Given the description of an element on the screen output the (x, y) to click on. 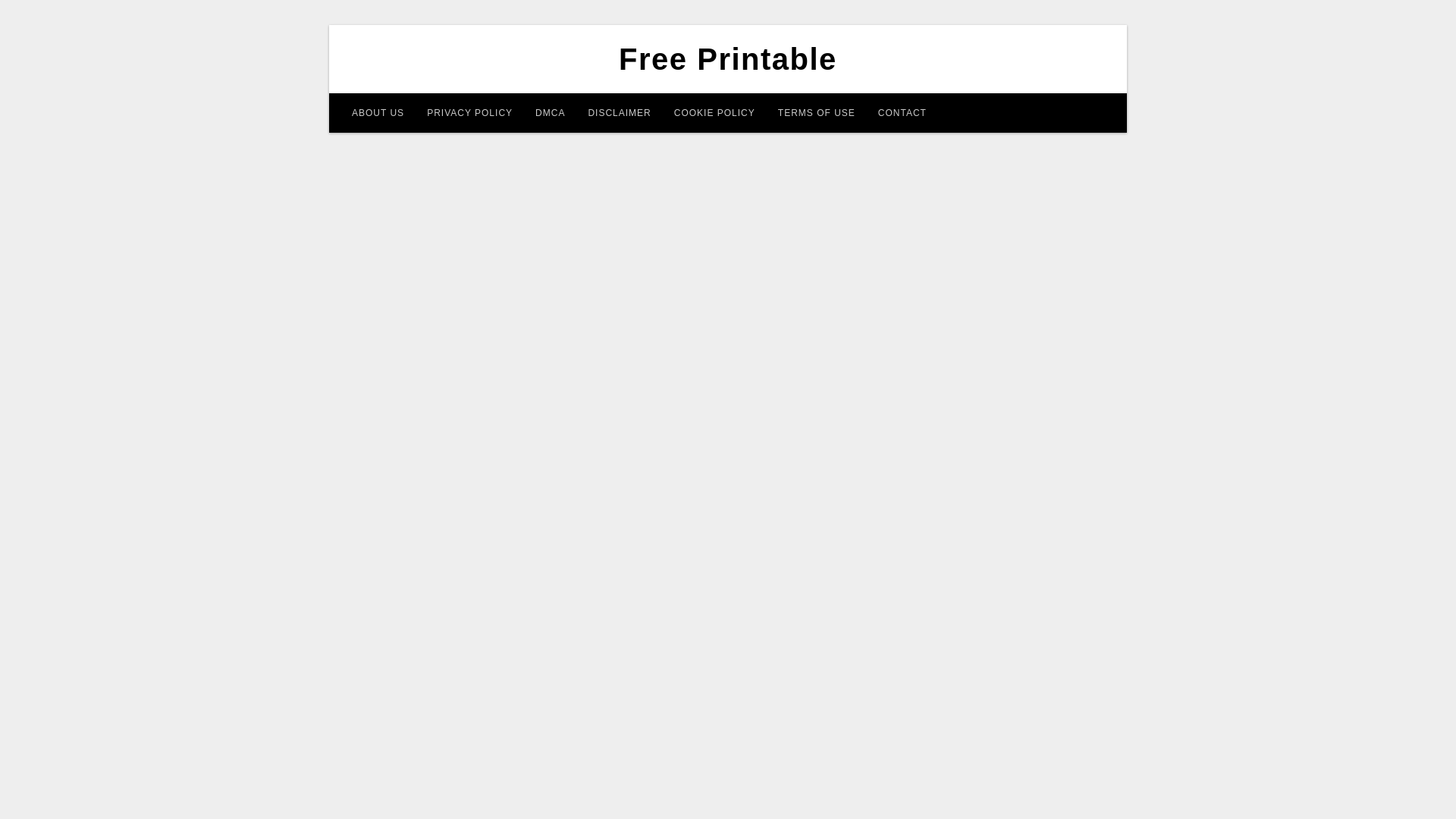
Free Printable (727, 59)
